Given the description of an element on the screen output the (x, y) to click on. 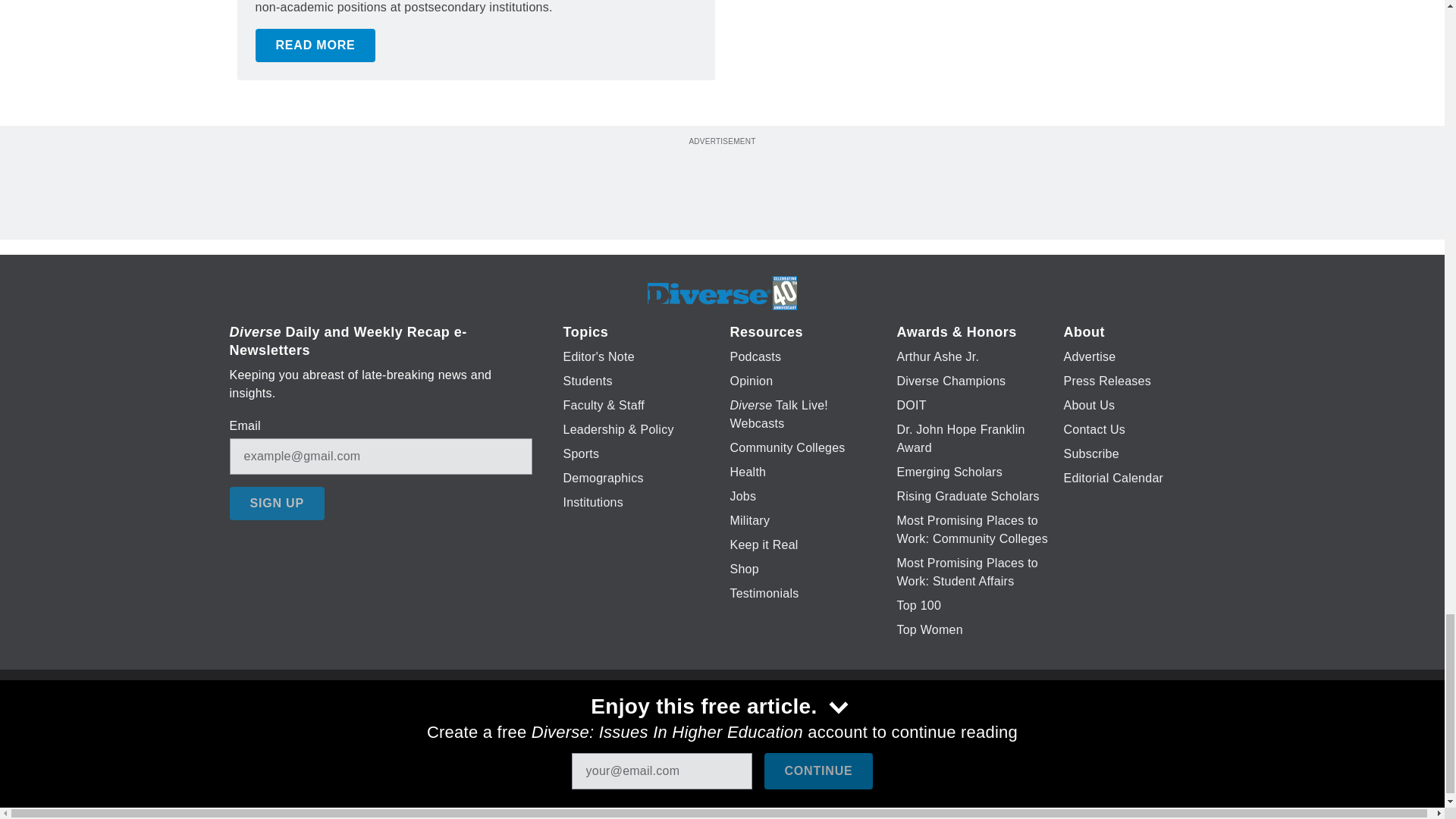
YouTube icon (757, 727)
Instagram icon (796, 727)
LinkedIn icon (718, 727)
Facebook icon (635, 727)
Twitter X icon (674, 727)
